Given the description of an element on the screen output the (x, y) to click on. 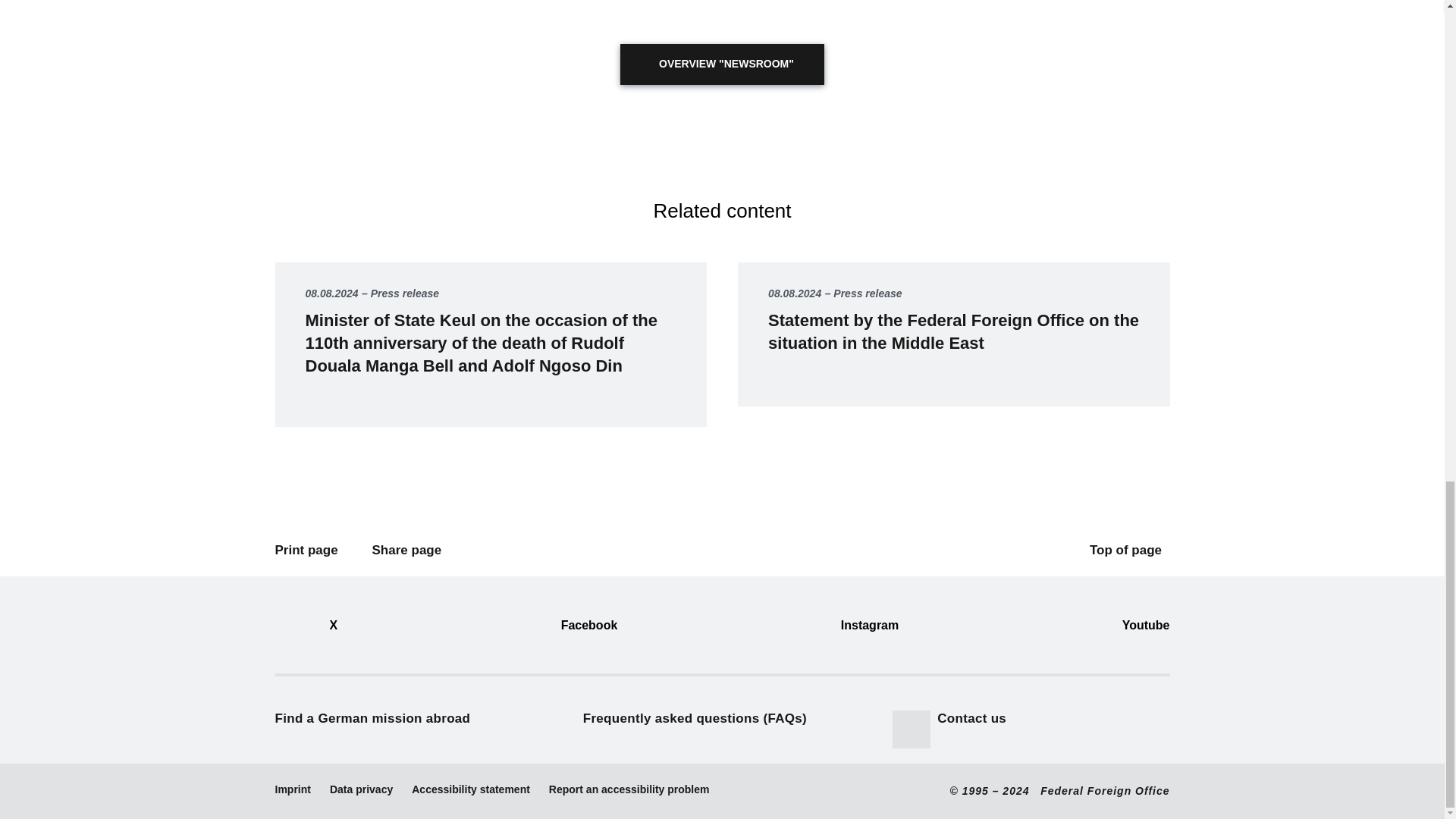
Overview Newsroom (722, 64)
Print page (310, 550)
